Given the description of an element on the screen output the (x, y) to click on. 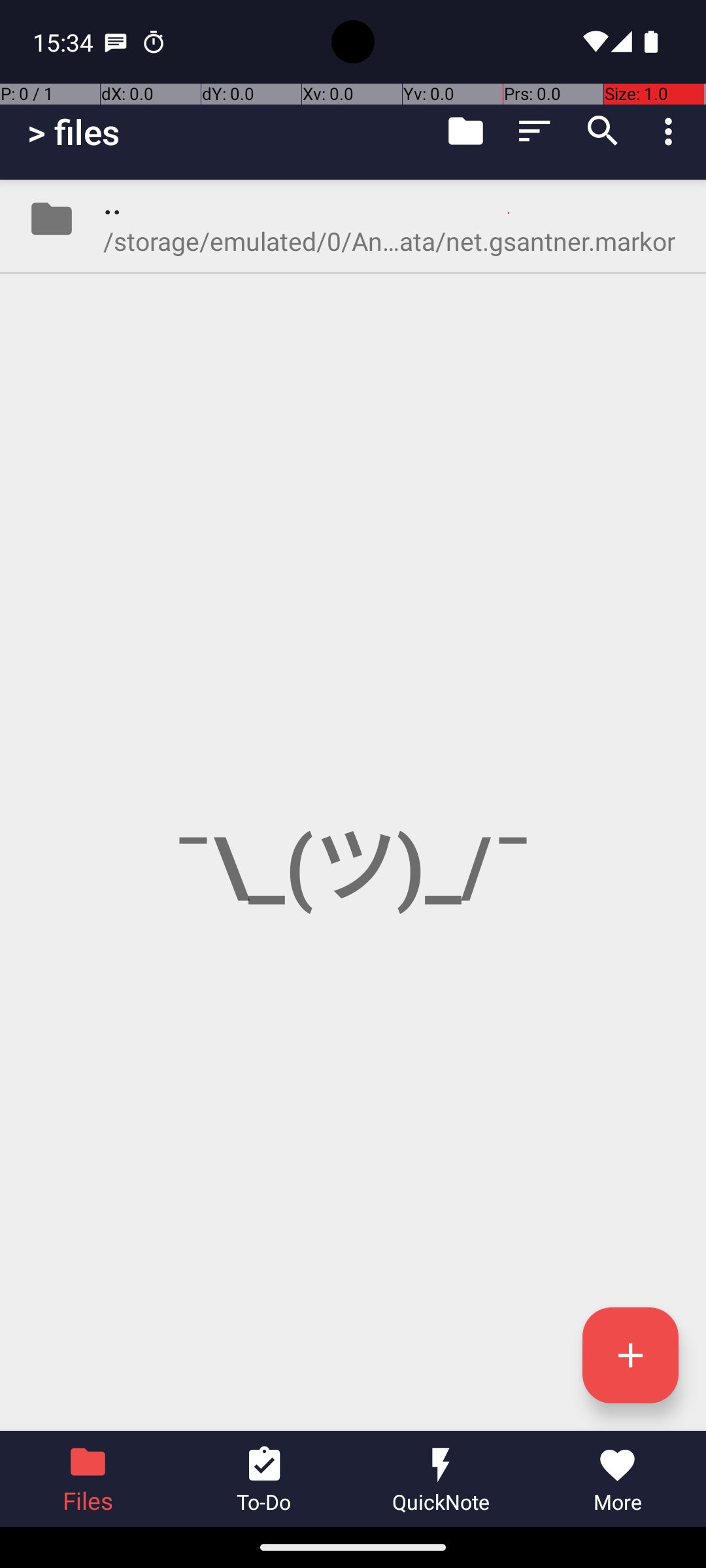
> files Element type: android.widget.TextView (73, 131)
SMS Messenger notification: Emily Ibrahim Element type: android.widget.ImageView (115, 41)
